Given the description of an element on the screen output the (x, y) to click on. 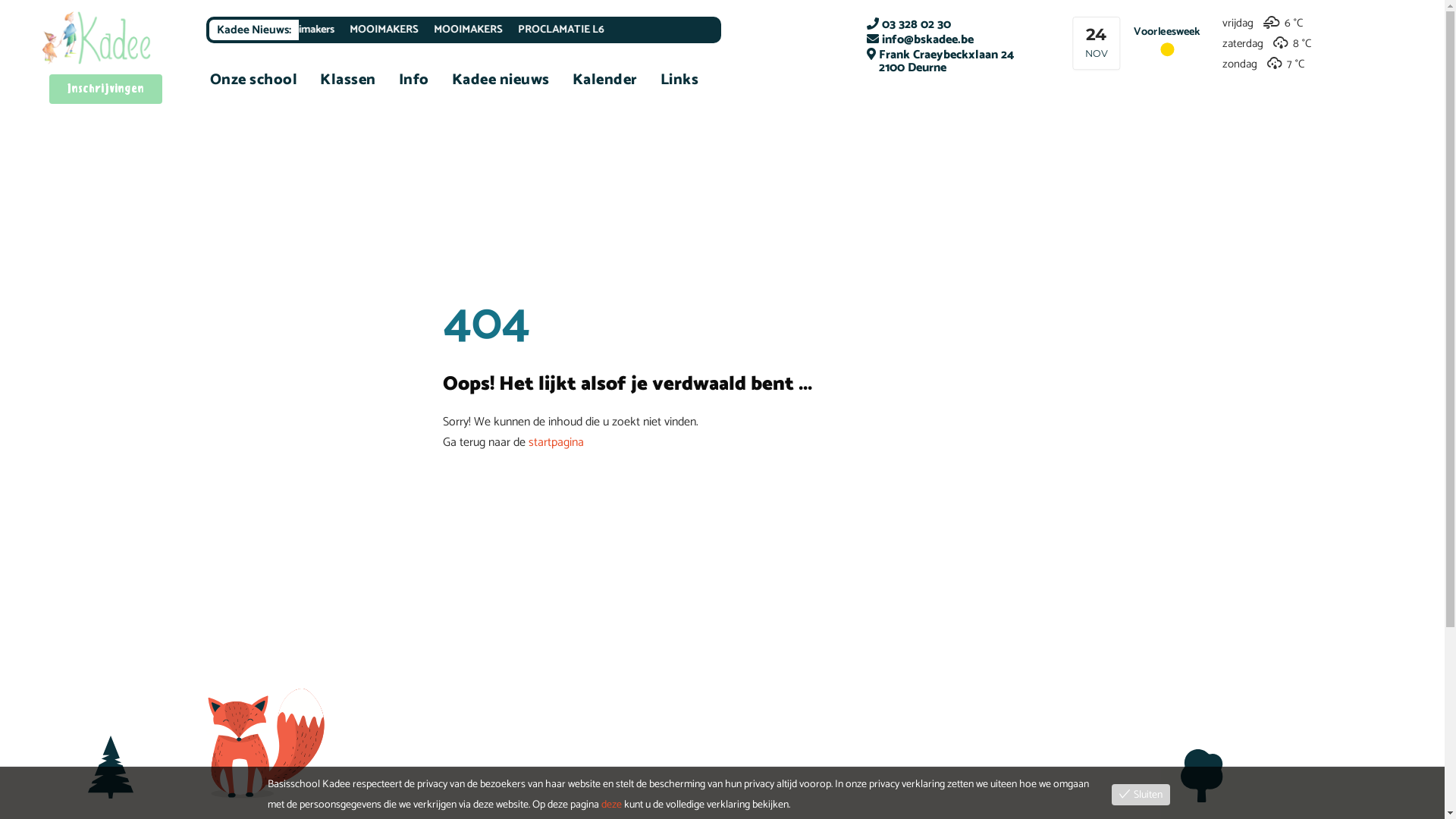
Links Element type: text (679, 79)
Inschrijvingen Element type: text (105, 88)
Kadee nieuws Element type: text (500, 79)
Voorleesweek Element type: text (1170, 41)
Voorleesweek Element type: text (1170, 32)
deze Element type: text (610, 804)
Onze school Element type: text (253, 79)
Kalender Element type: text (605, 79)
MOOIMAKERS Element type: text (462, 29)
startpagina Element type: text (555, 442)
Info Element type: text (413, 79)
PROCLAMATIE L6 Element type: text (638, 29)
MOOIMAKERS Element type: text (545, 29)
Klassen Element type: text (347, 79)
Beloning Operatie Proper Mooimakers Element type: text (325, 29)
